Given the description of an element on the screen output the (x, y) to click on. 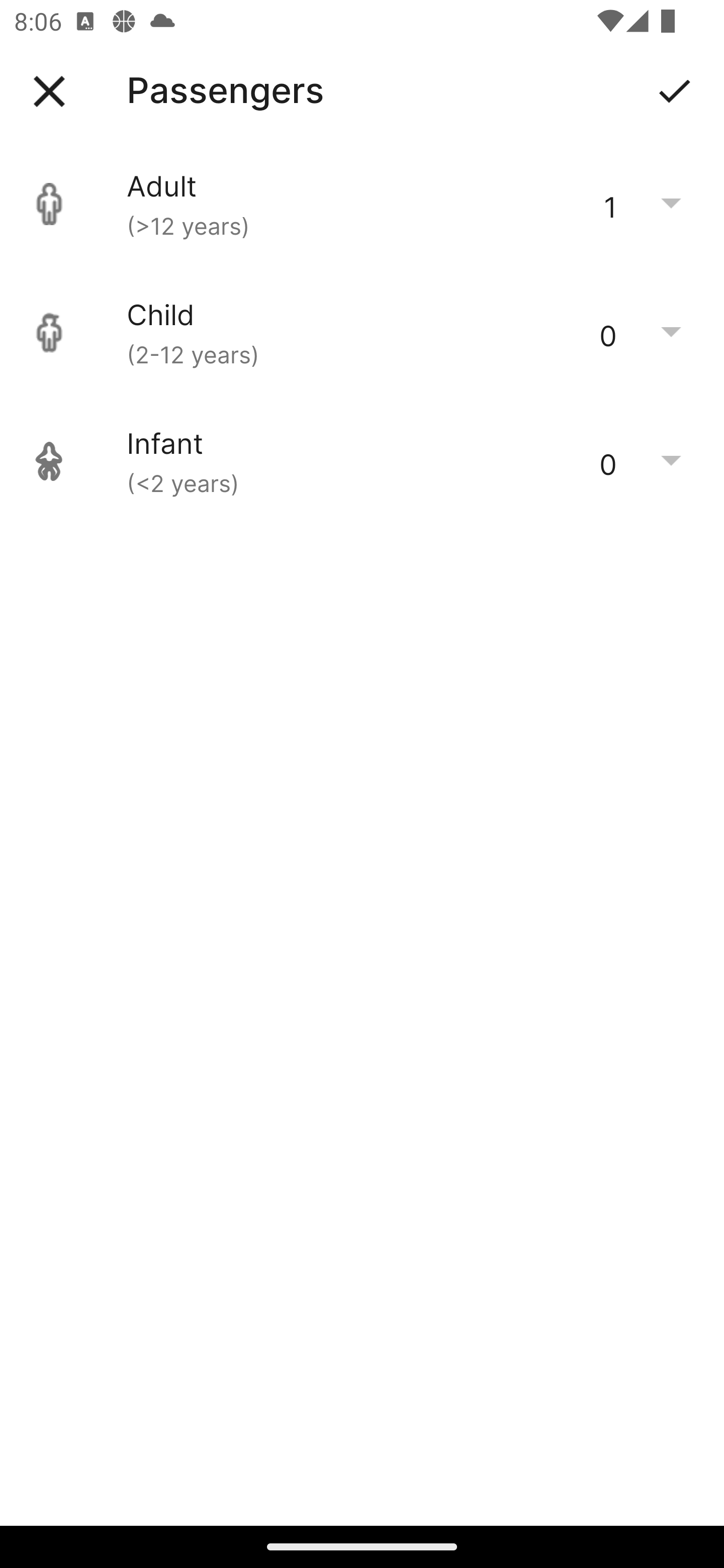
Adult (>12 years) 1 (362, 204)
Child (2-12 years) 0 (362, 332)
Infant (<2 years) 0 (362, 461)
